Given the description of an element on the screen output the (x, y) to click on. 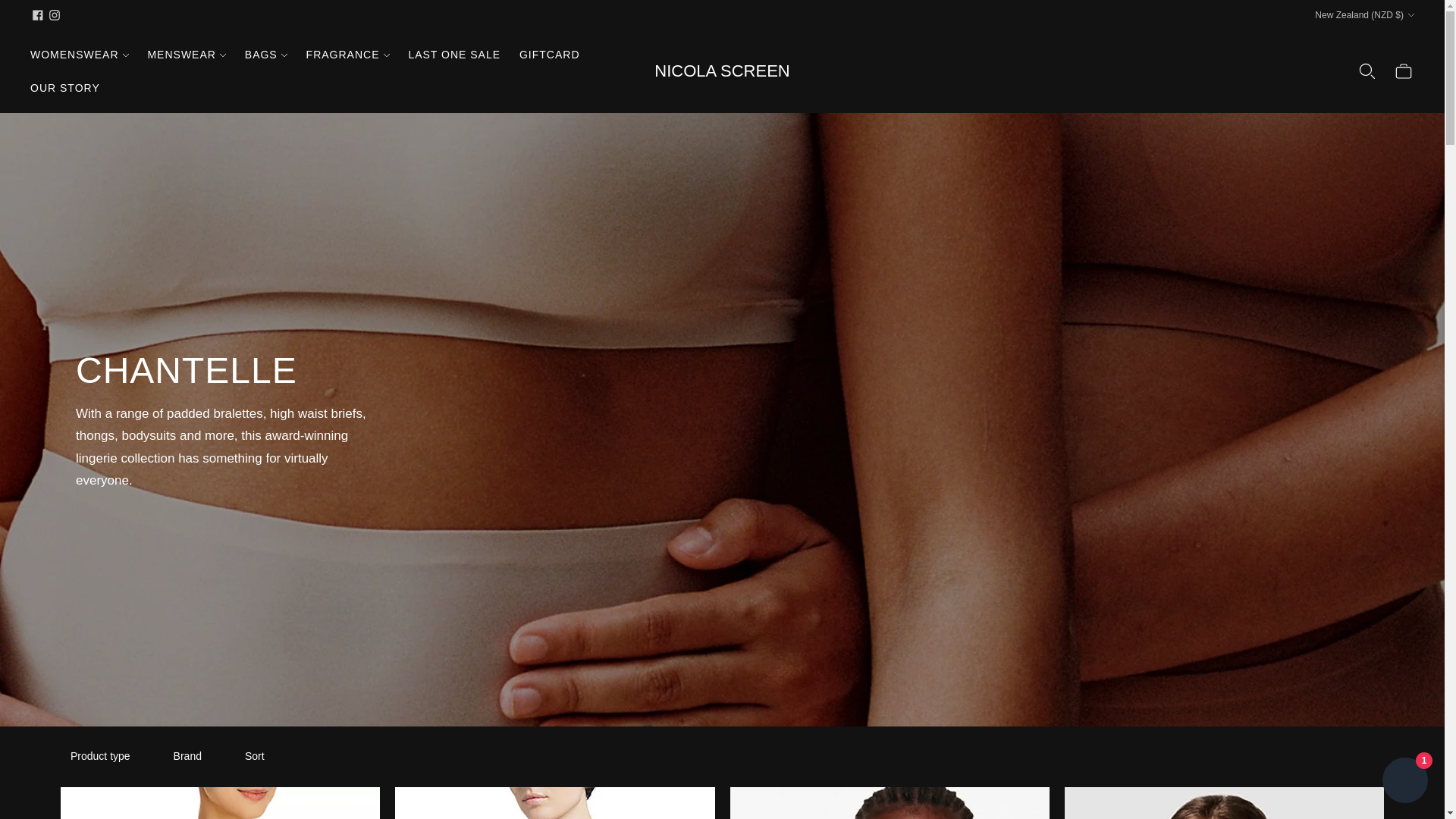
MENSWEAR (186, 54)
Shopify online store chat (1404, 781)
LAST ONE SALE (453, 54)
BAGS (265, 54)
OUR STORY (65, 87)
WOMENSWEAR (79, 54)
GIFTCARD (549, 54)
Nicola Screen  on Instagram (54, 14)
Nicola Screen  on Facebook (37, 14)
FRAGRANCE (347, 54)
